Given the description of an element on the screen output the (x, y) to click on. 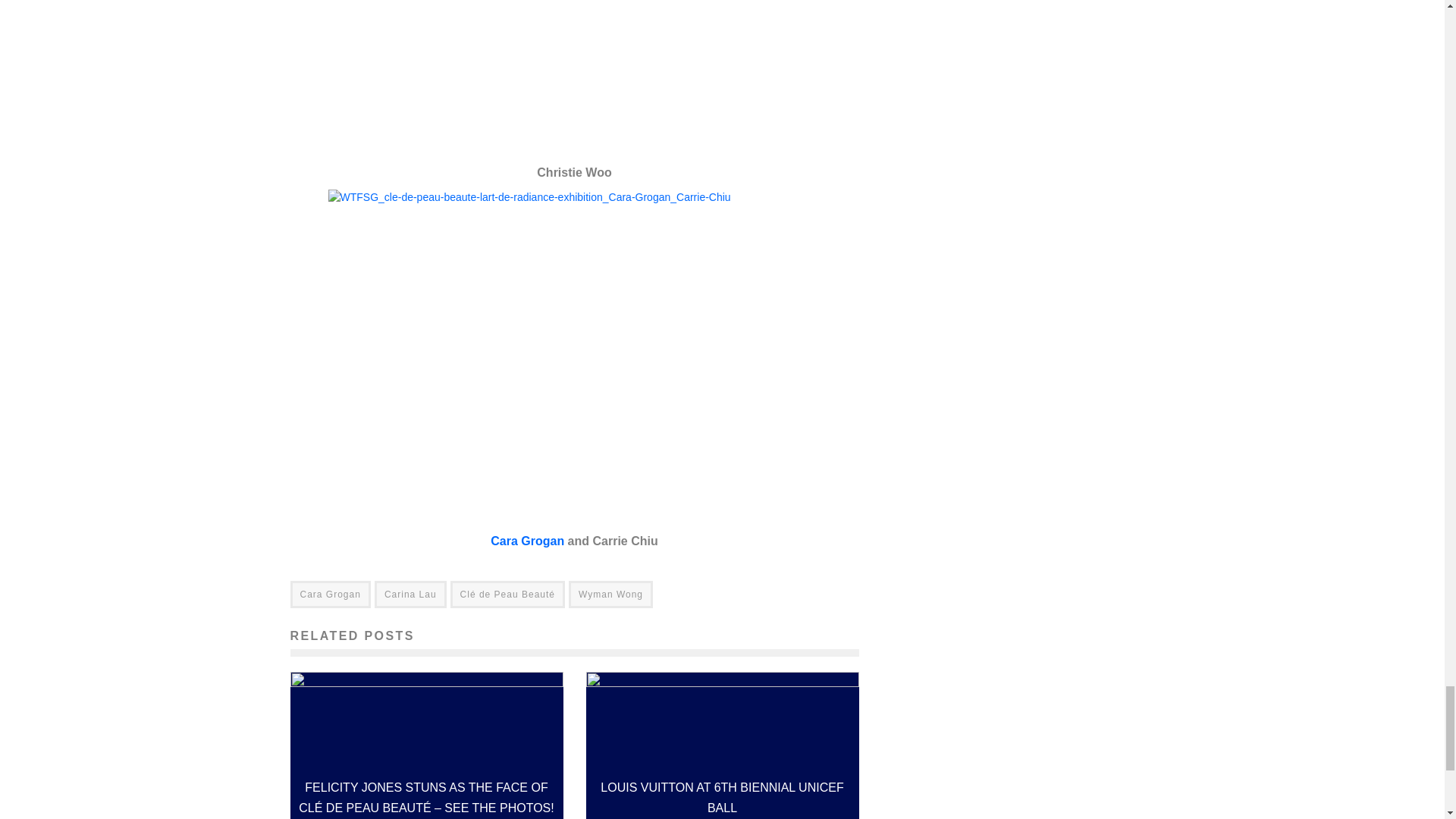
Cara Grogan (527, 540)
